Given the description of an element on the screen output the (x, y) to click on. 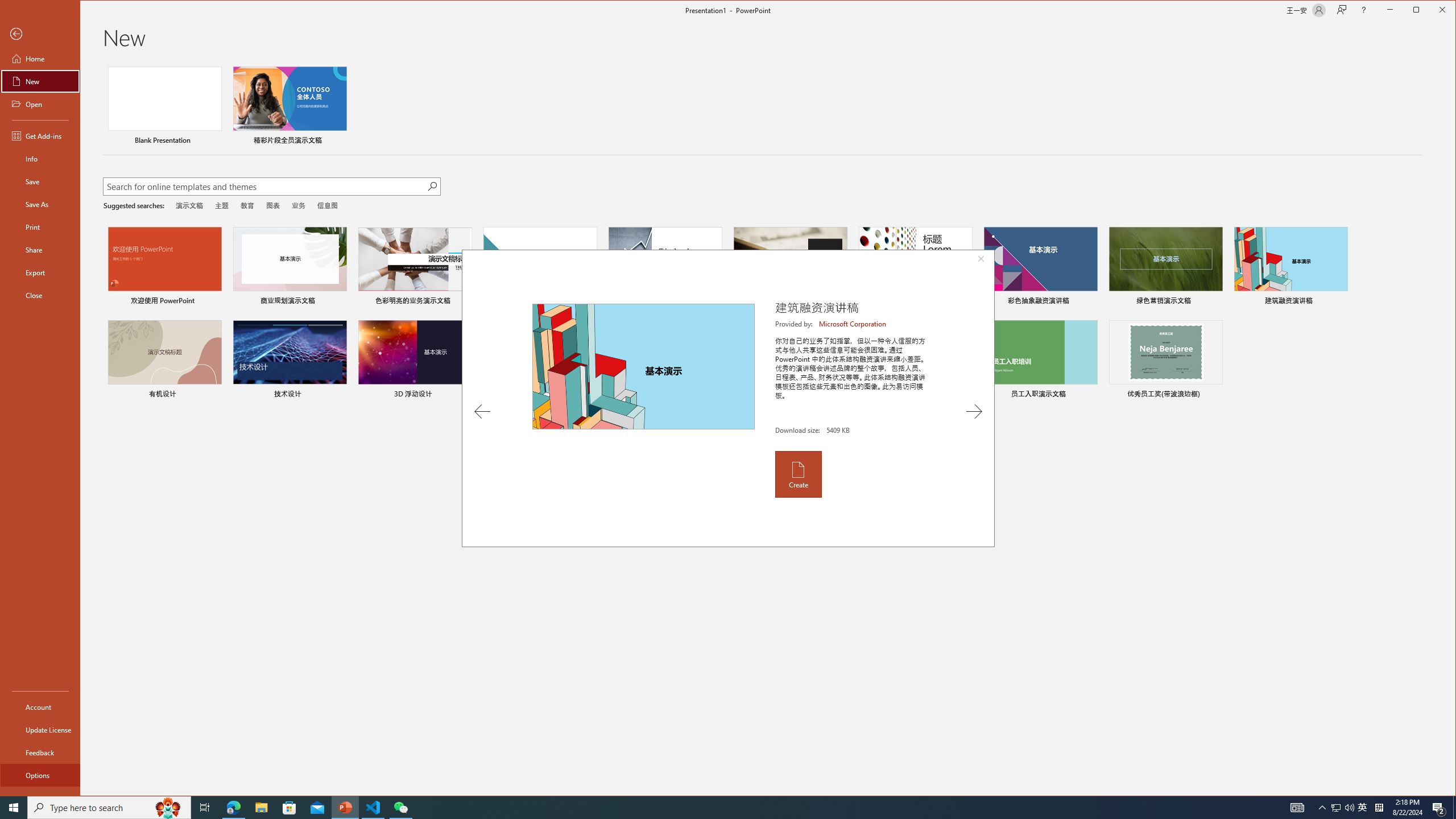
Options (40, 775)
Update License (40, 729)
